Given the description of an element on the screen output the (x, y) to click on. 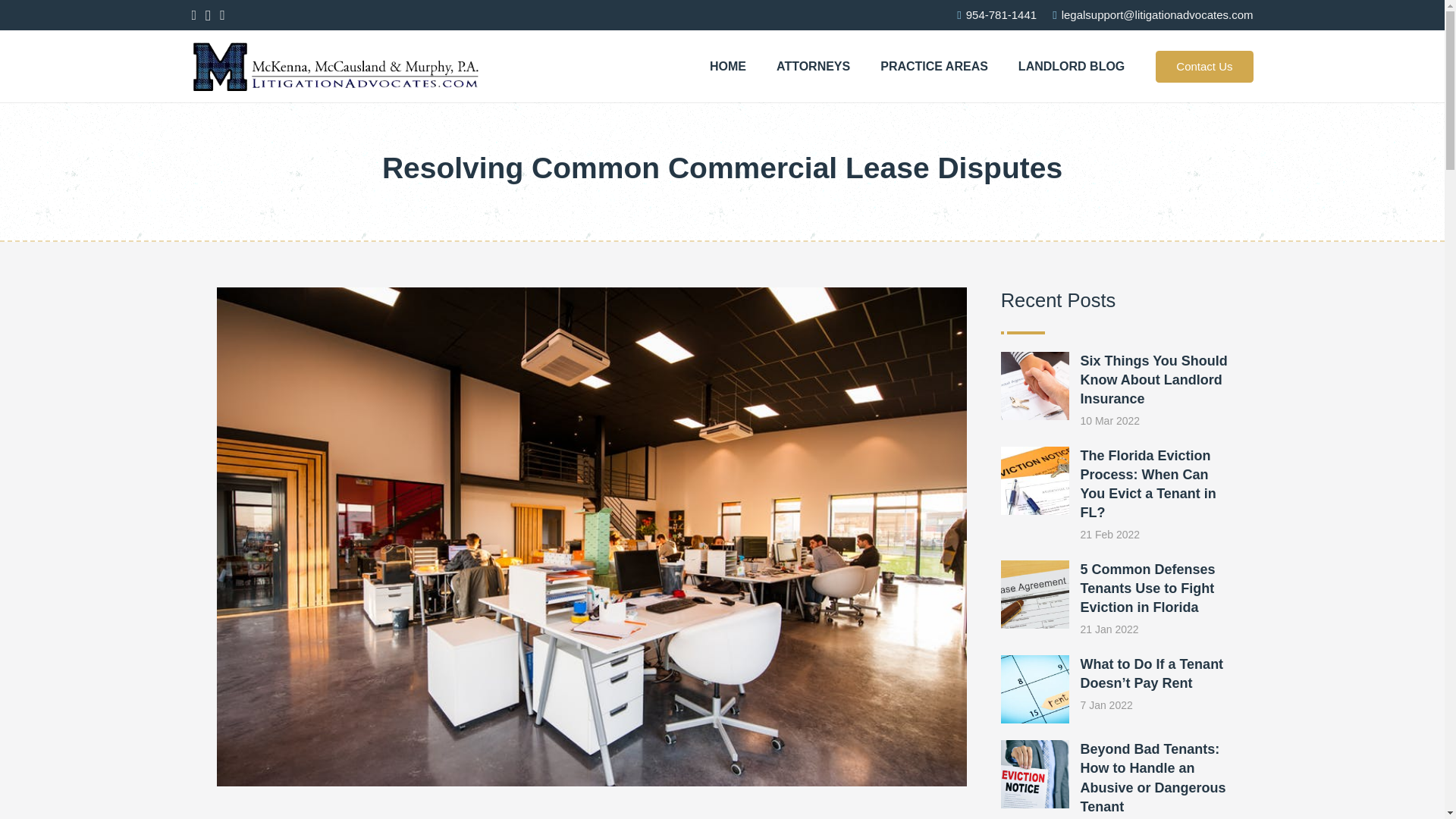
ATTORNEYS (812, 66)
Contact Us (1204, 65)
LANDLORD BLOG (1071, 66)
HOME (727, 66)
PRACTICE AREAS (933, 66)
954-781-1441 (996, 14)
